Given the description of an element on the screen output the (x, y) to click on. 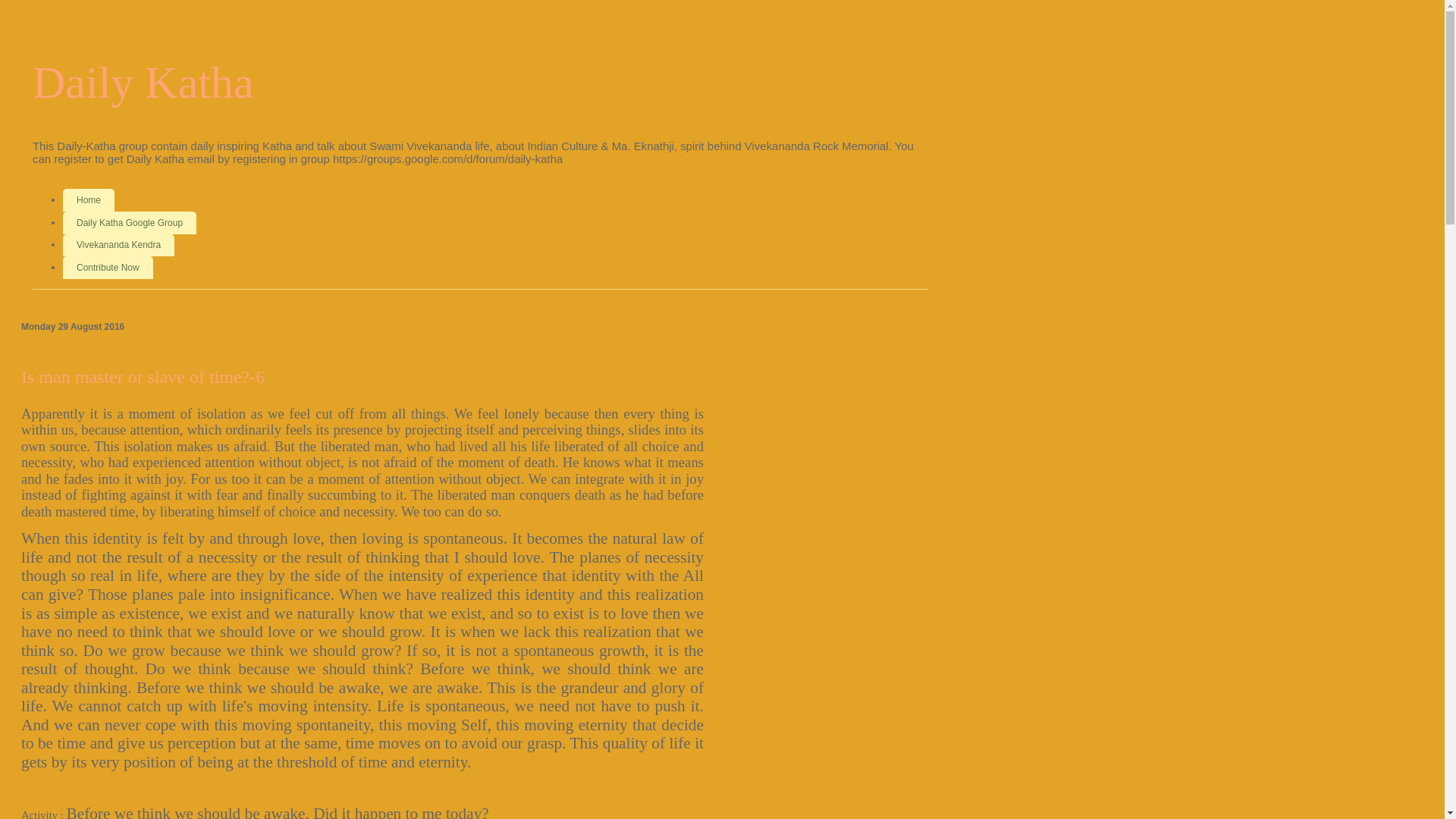
Home (88, 200)
Daily Katha (142, 82)
Vivekananda Kendra (118, 244)
Contribute Now (107, 267)
Daily Katha Google Group (129, 222)
